Given the description of an element on the screen output the (x, y) to click on. 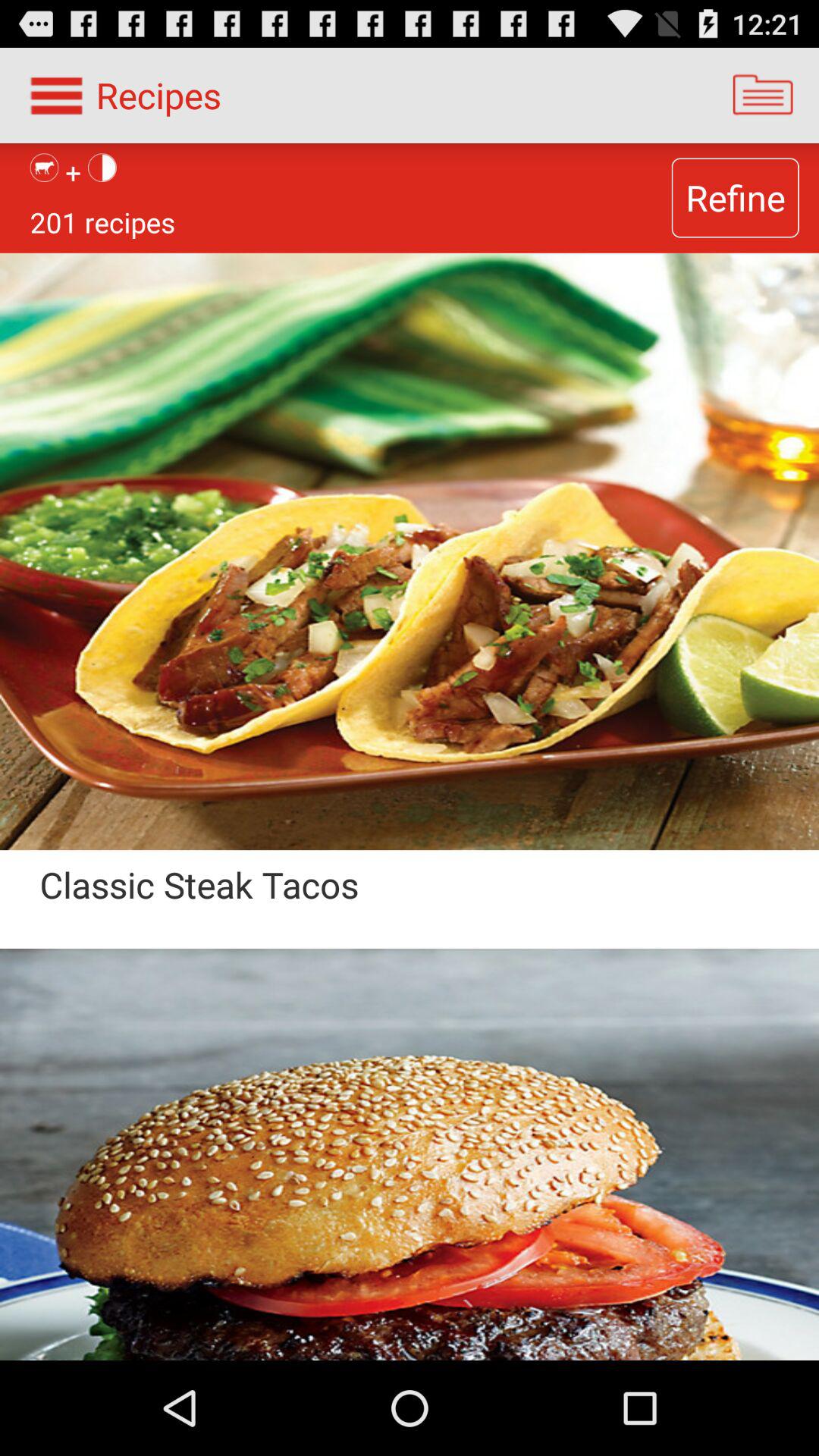
turn on the icon above refine button (763, 95)
